Given the description of an element on the screen output the (x, y) to click on. 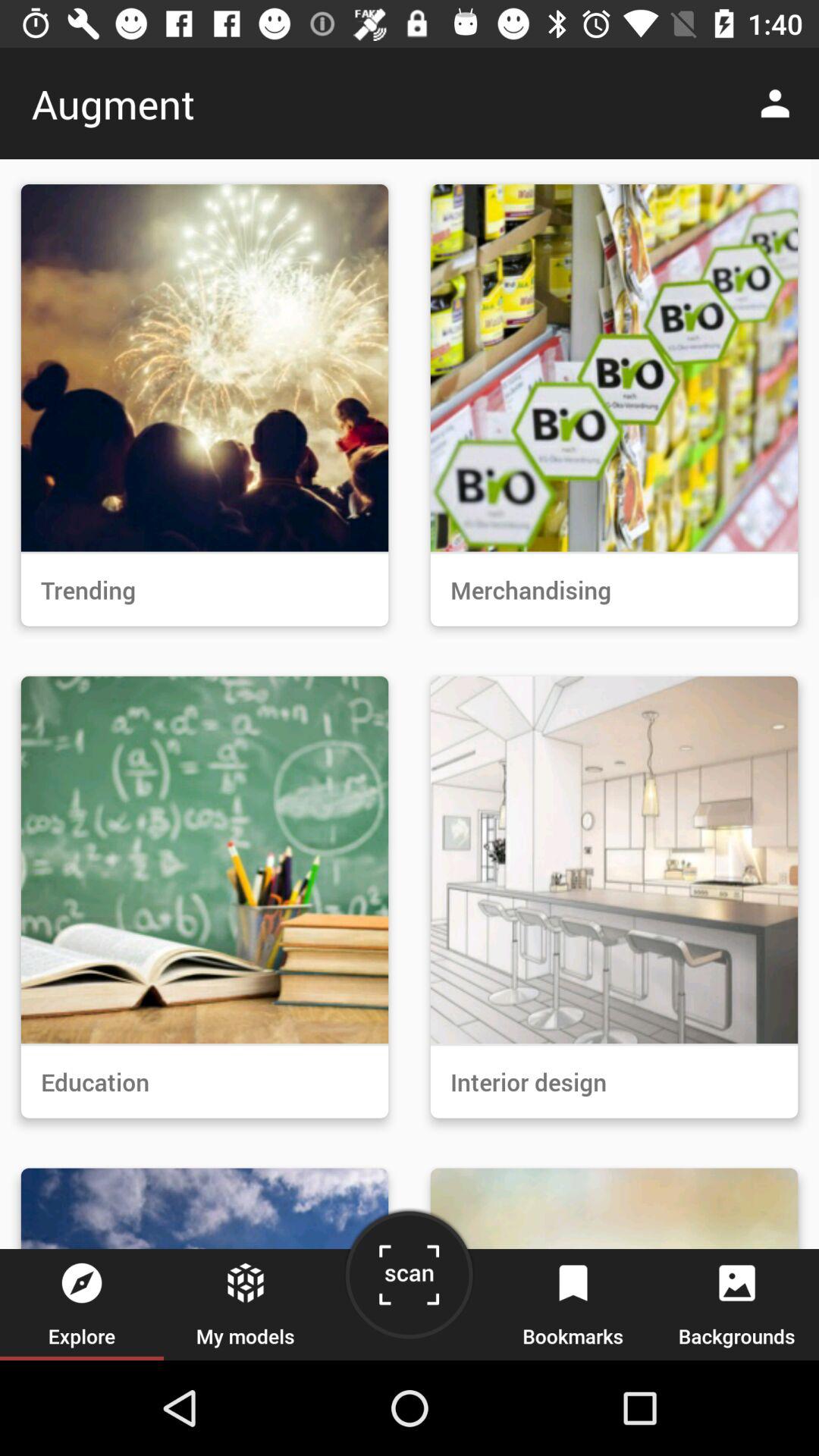
tap item next to the bookmarks item (408, 1280)
